Given the description of an element on the screen output the (x, y) to click on. 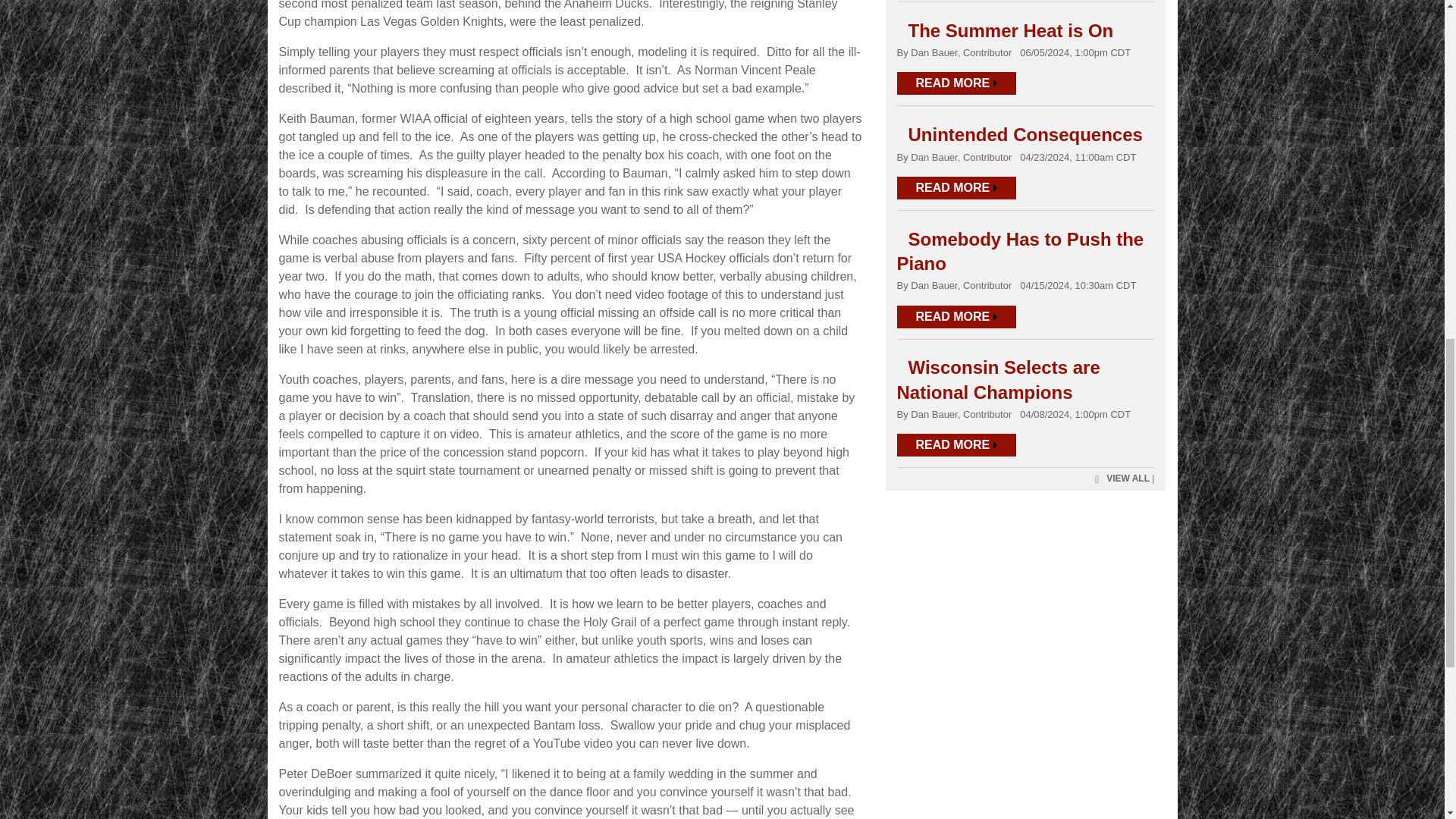
READ MORE (956, 83)
View All (1120, 478)
The Summer Heat is On (1010, 30)
Unintended Consequences (1025, 134)
READ MORE (956, 187)
